Given the description of an element on the screen output the (x, y) to click on. 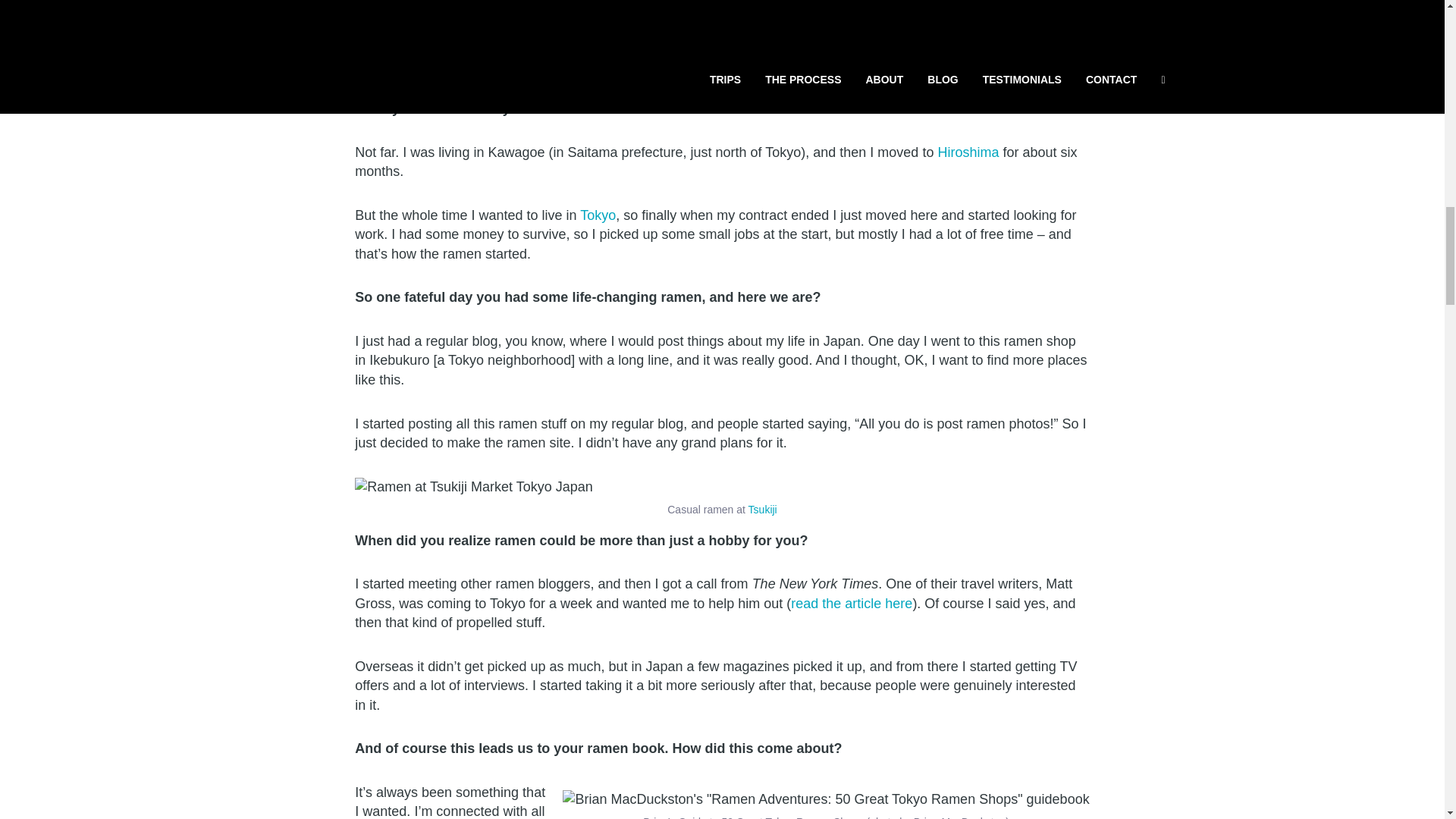
Hiroshima (967, 151)
Tokyo (597, 215)
Tsukiji (762, 509)
read the article here (851, 603)
